Given the description of an element on the screen output the (x, y) to click on. 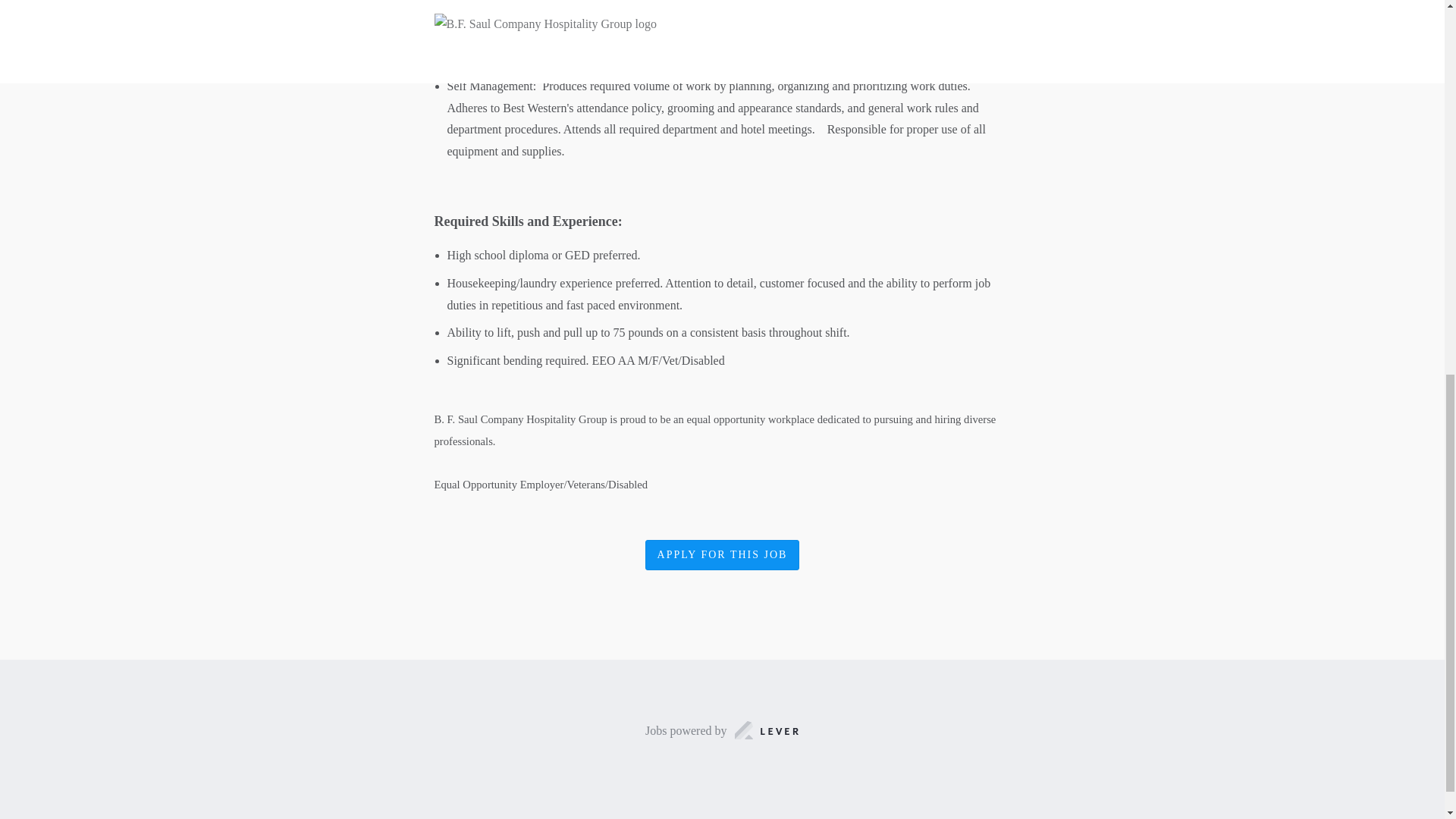
APPLY FOR THIS JOB (722, 554)
Jobs powered by (722, 731)
